Given the description of an element on the screen output the (x, y) to click on. 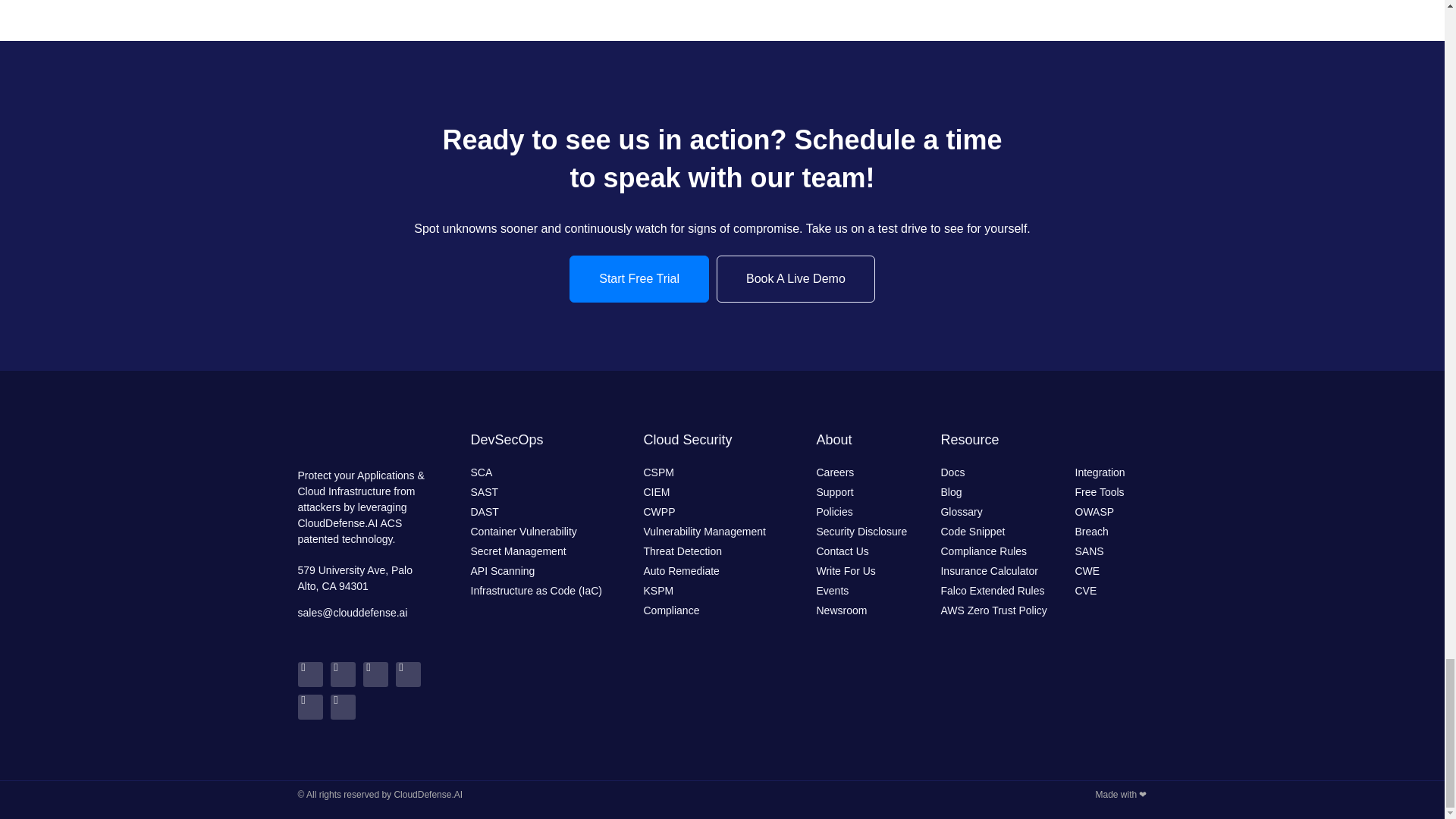
CloudDefense.AI White horizontal Logo (364, 441)
